Given the description of an element on the screen output the (x, y) to click on. 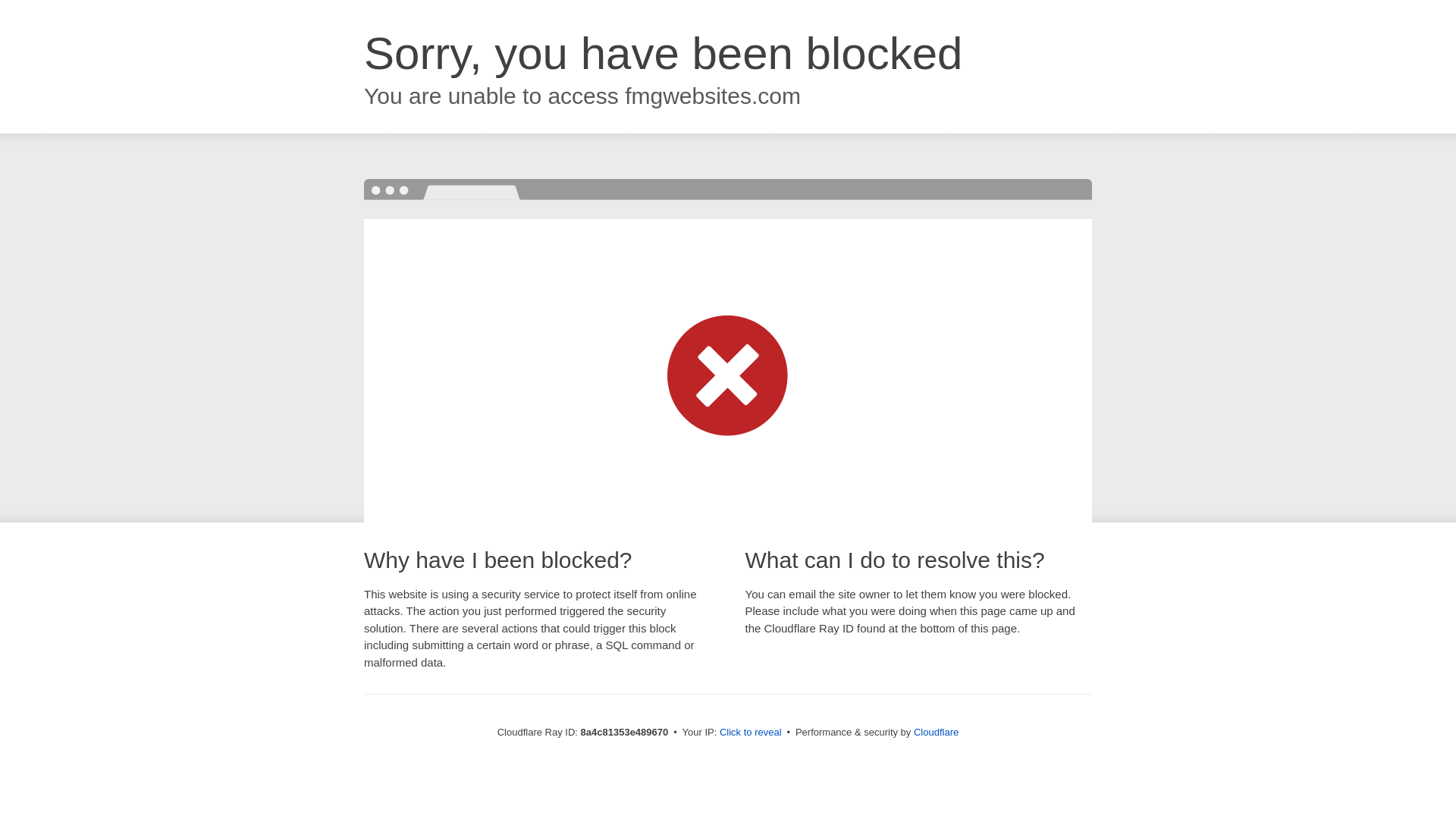
Cloudflare (936, 731)
Click to reveal (750, 732)
